Given the description of an element on the screen output the (x, y) to click on. 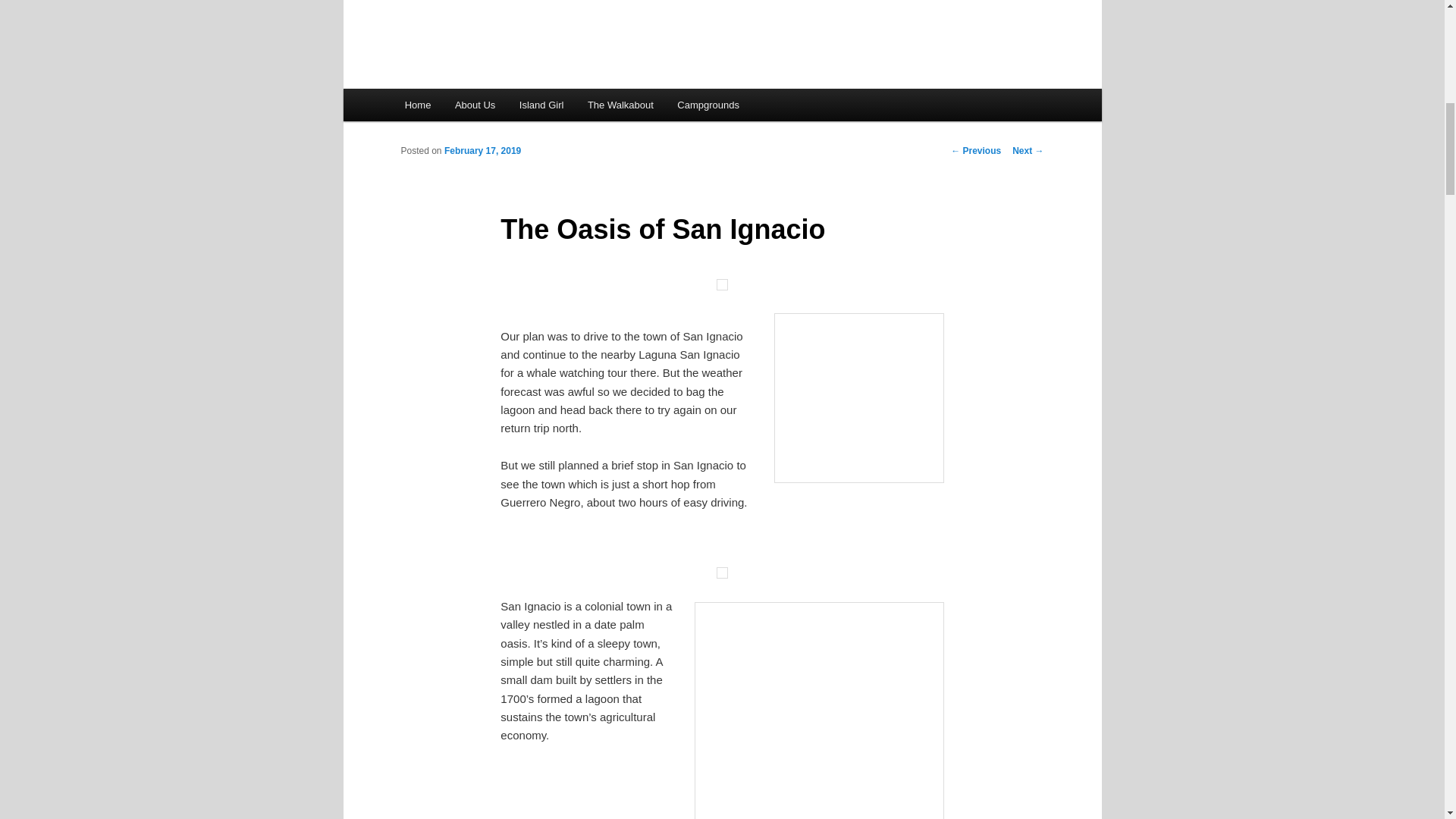
The Walkabout (620, 104)
9:20 am (482, 150)
About Us (474, 104)
February 17, 2019 (482, 150)
Island Girl (540, 104)
Campgrounds (708, 104)
Home (417, 104)
